Given the description of an element on the screen output the (x, y) to click on. 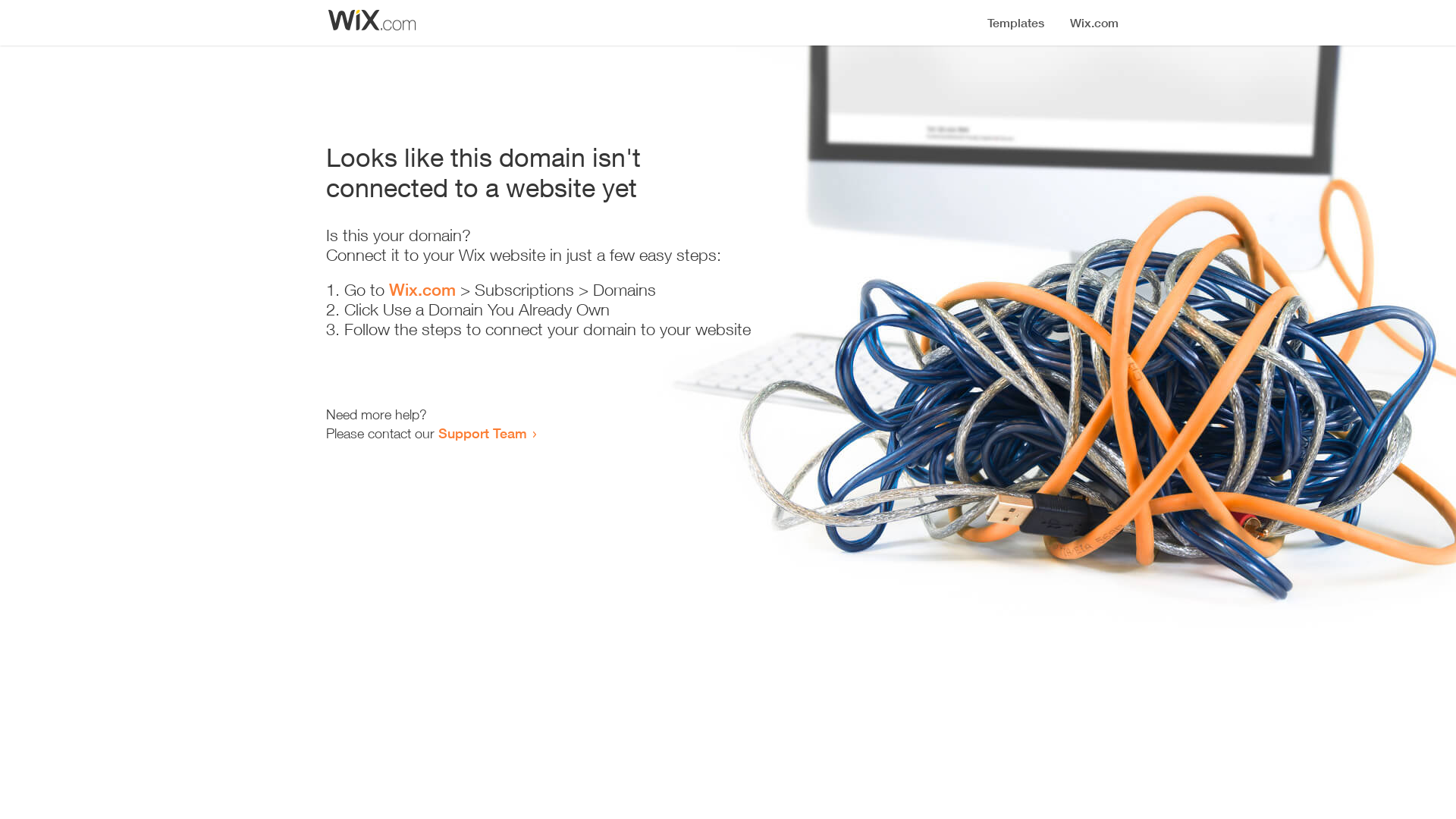
Support Team Element type: text (482, 432)
Wix.com Element type: text (422, 289)
